Given the description of an element on the screen output the (x, y) to click on. 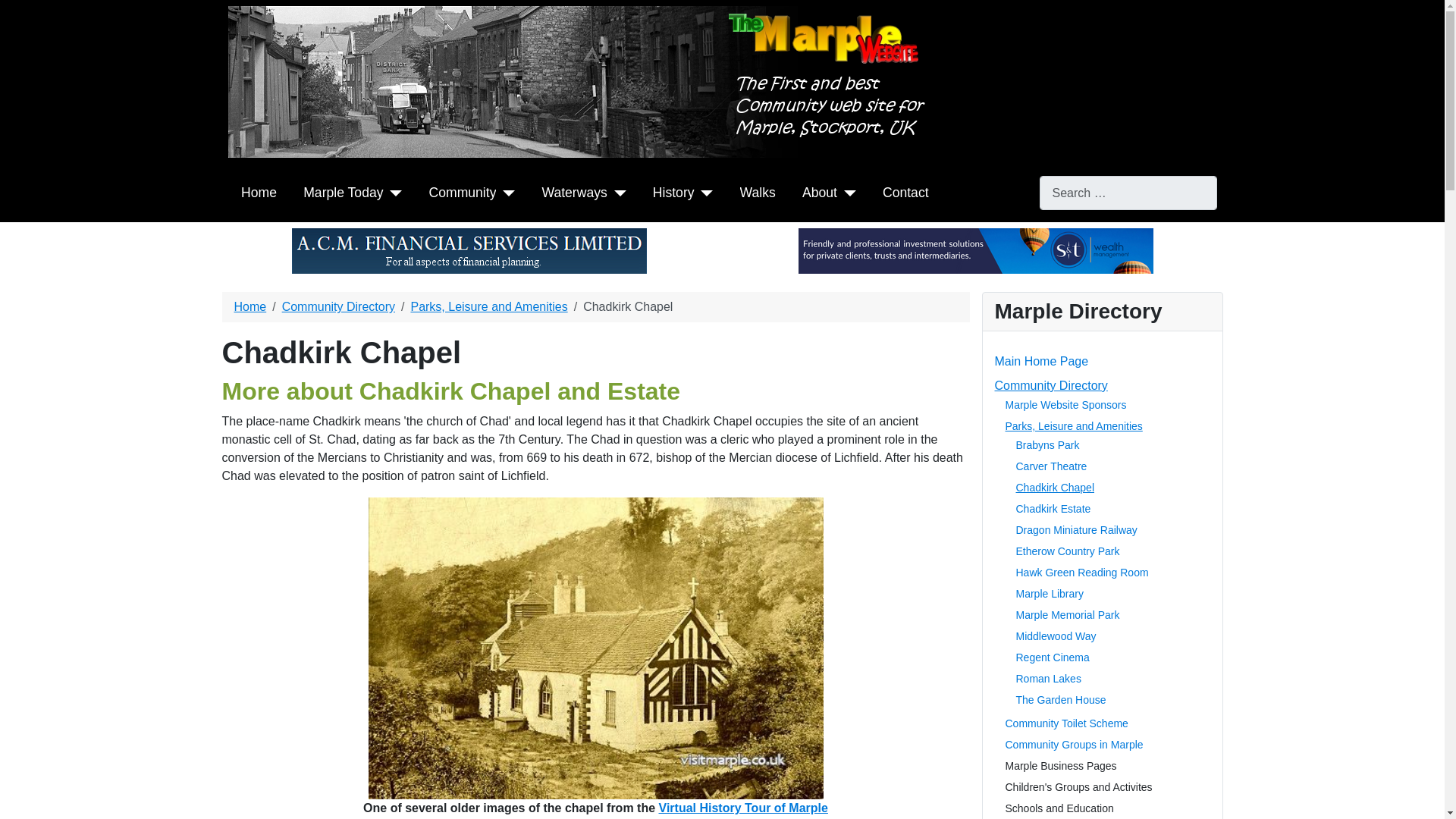
Walks (757, 192)
History (673, 192)
ACM (468, 249)
S and T Wealth Management (975, 249)
Marple Today (342, 192)
Community (462, 192)
Waterways (574, 192)
Home (258, 192)
About (819, 192)
